Given the description of an element on the screen output the (x, y) to click on. 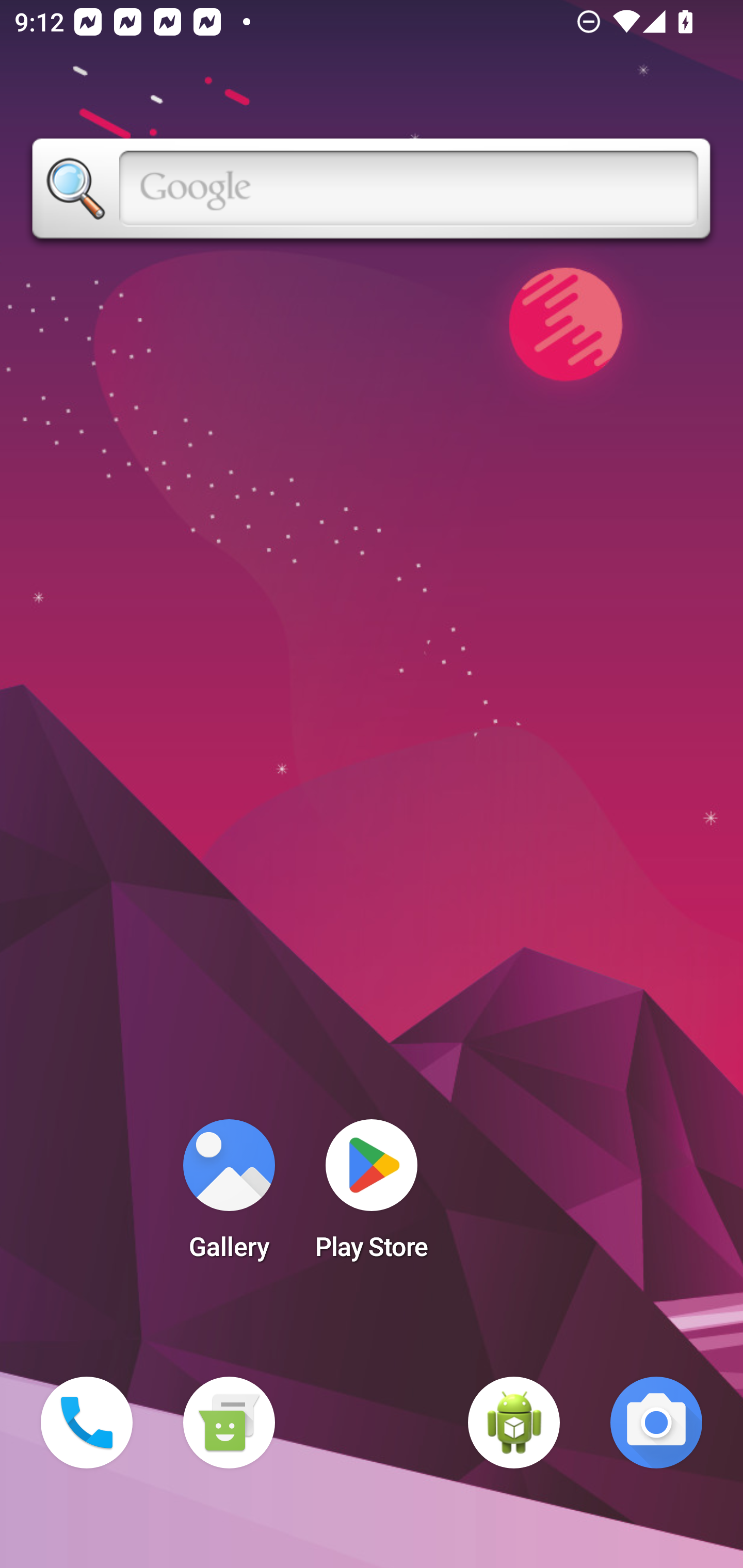
Gallery (228, 1195)
Play Store (371, 1195)
Phone (86, 1422)
Messaging (228, 1422)
WebView Browser Tester (513, 1422)
Camera (656, 1422)
